Given the description of an element on the screen output the (x, y) to click on. 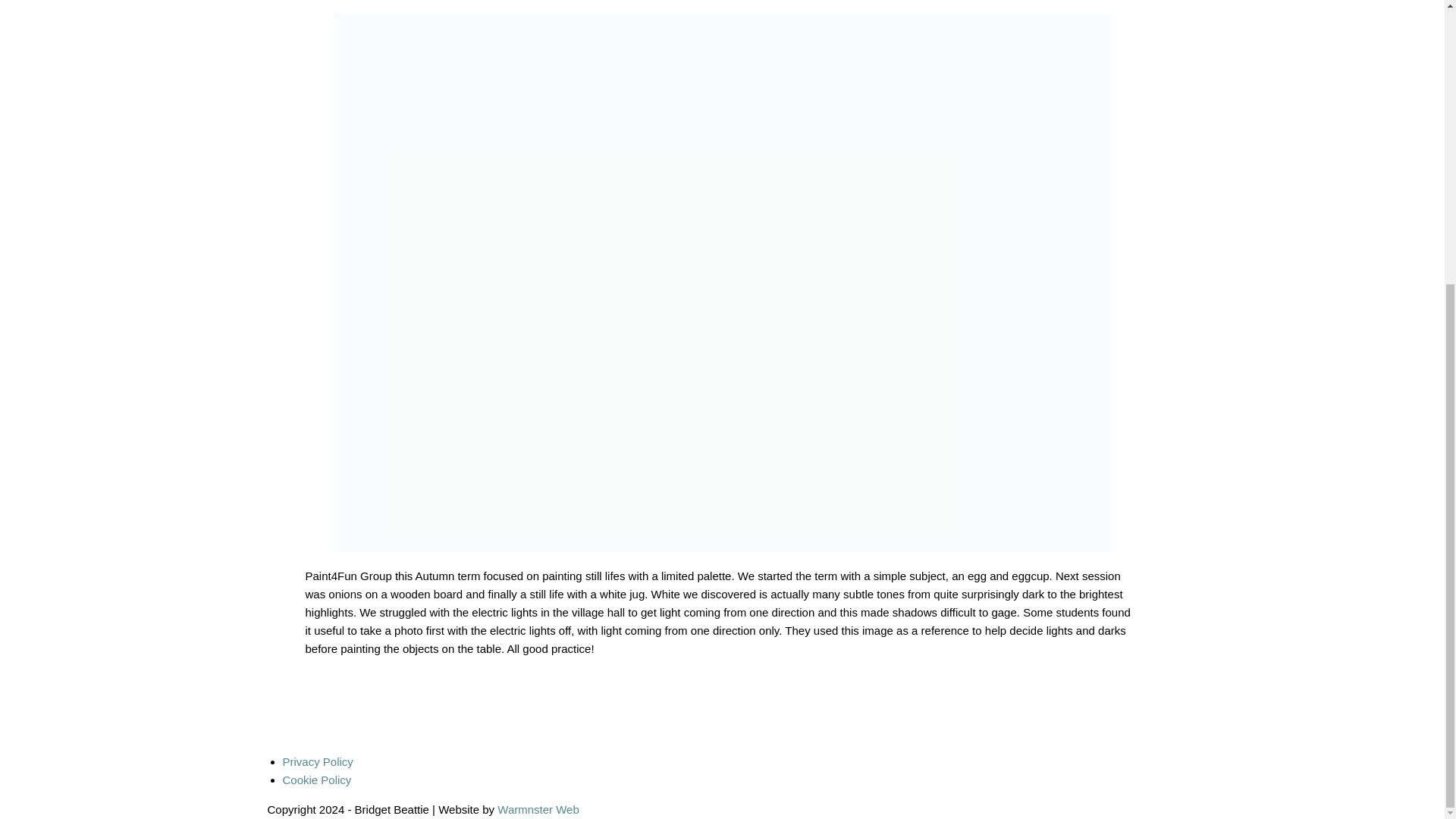
Warmnster Web (538, 809)
Cookie Policy (316, 779)
Privacy Policy (317, 761)
